Given the description of an element on the screen output the (x, y) to click on. 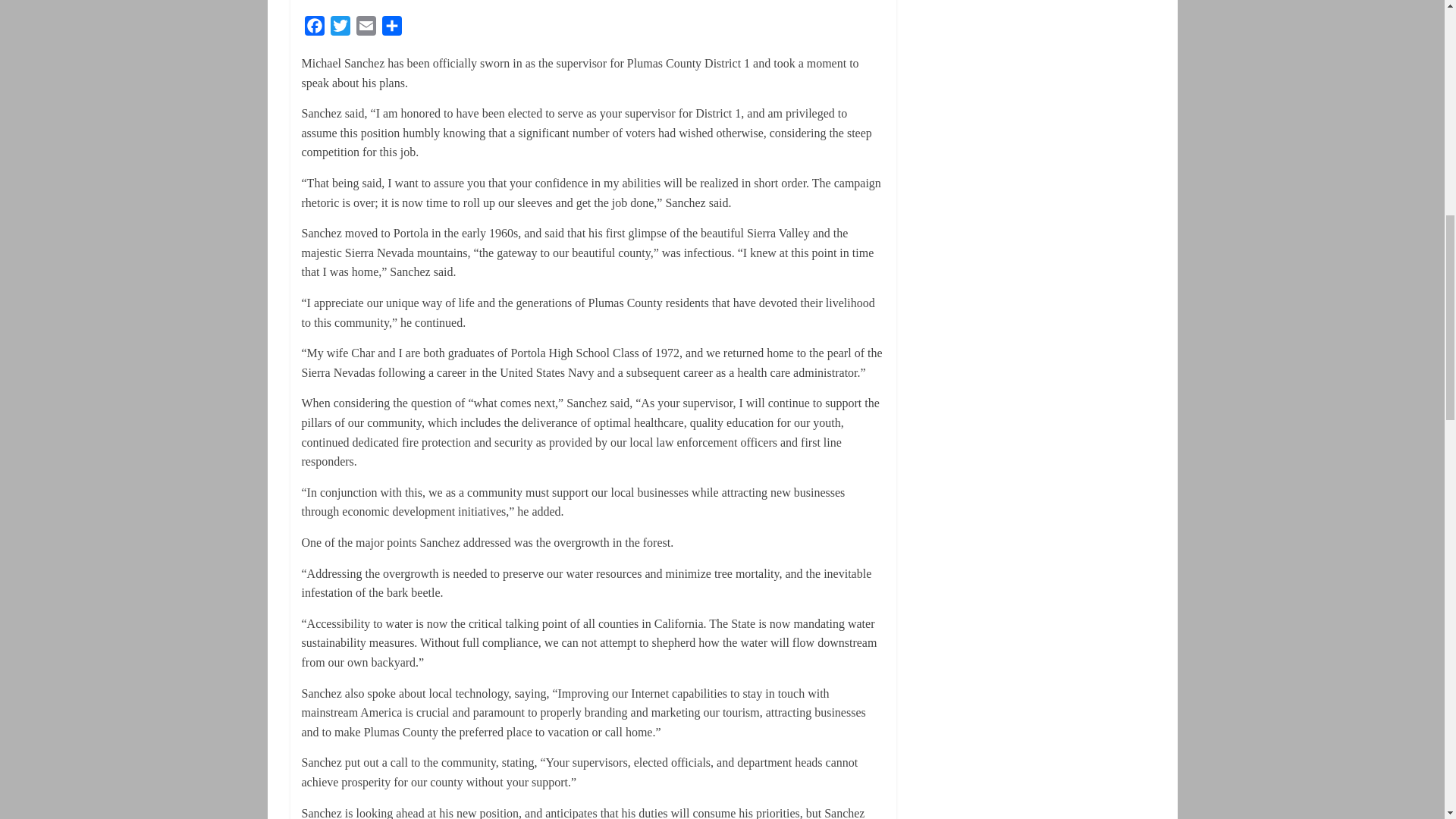
Facebook (314, 28)
Twitter (340, 28)
Email (365, 28)
